Given the description of an element on the screen output the (x, y) to click on. 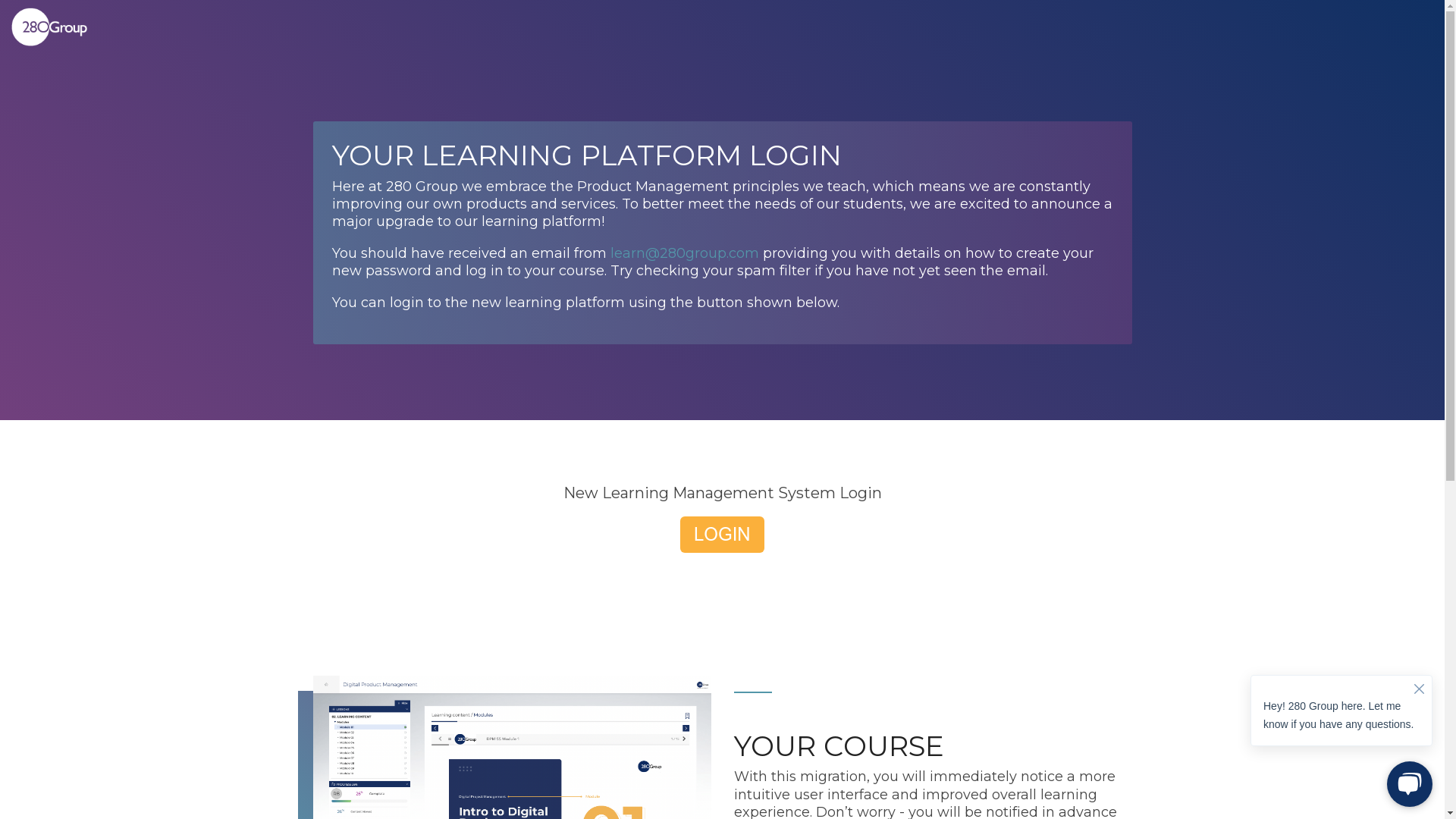
learn@280group.com Element type: text (683, 252)
Skip to the main content. Element type: text (0, 0)
280Group_Logo White Element type: hover (49, 26)
